Given the description of an element on the screen output the (x, y) to click on. 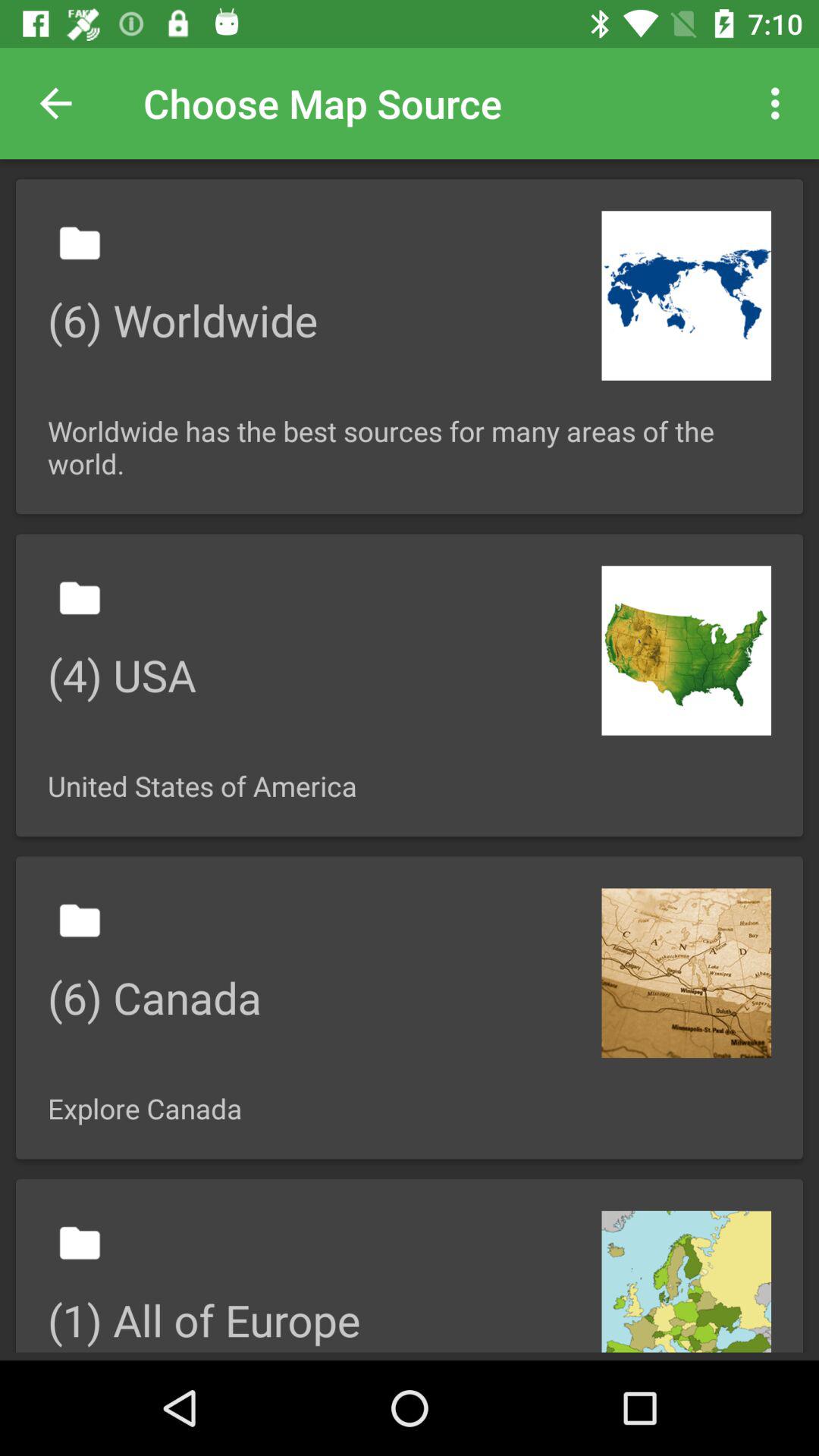
select the image which is below choose map source on the page (409, 346)
select the image which is to the right of 6 worldwide (686, 295)
click on the third option (409, 1007)
